Given the description of an element on the screen output the (x, y) to click on. 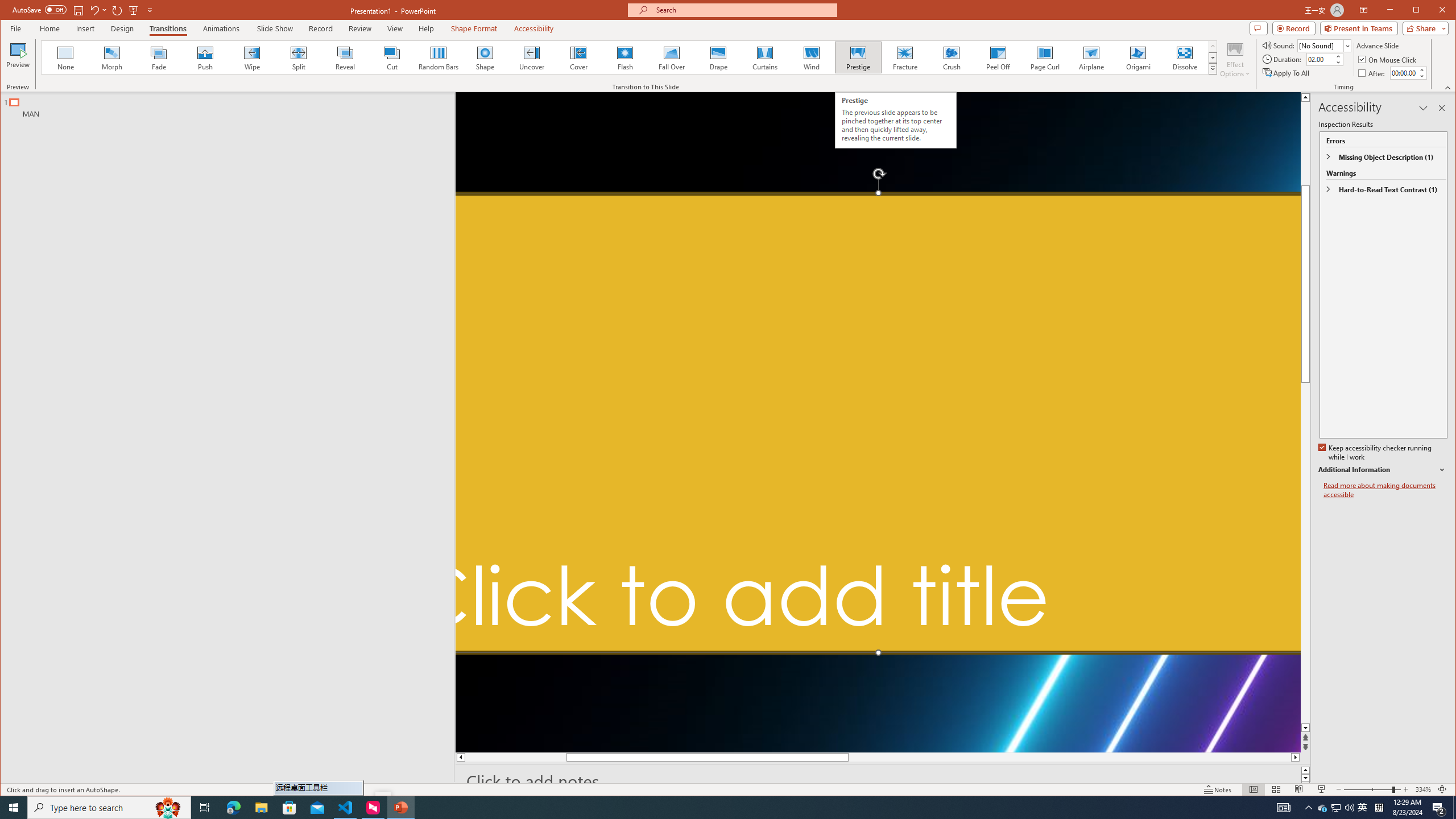
Peel Off (998, 57)
Airplane (1091, 57)
Reveal (344, 57)
Origami (1138, 57)
Duration (1320, 59)
Zoom 334% (1422, 789)
